Given the description of an element on the screen output the (x, y) to click on. 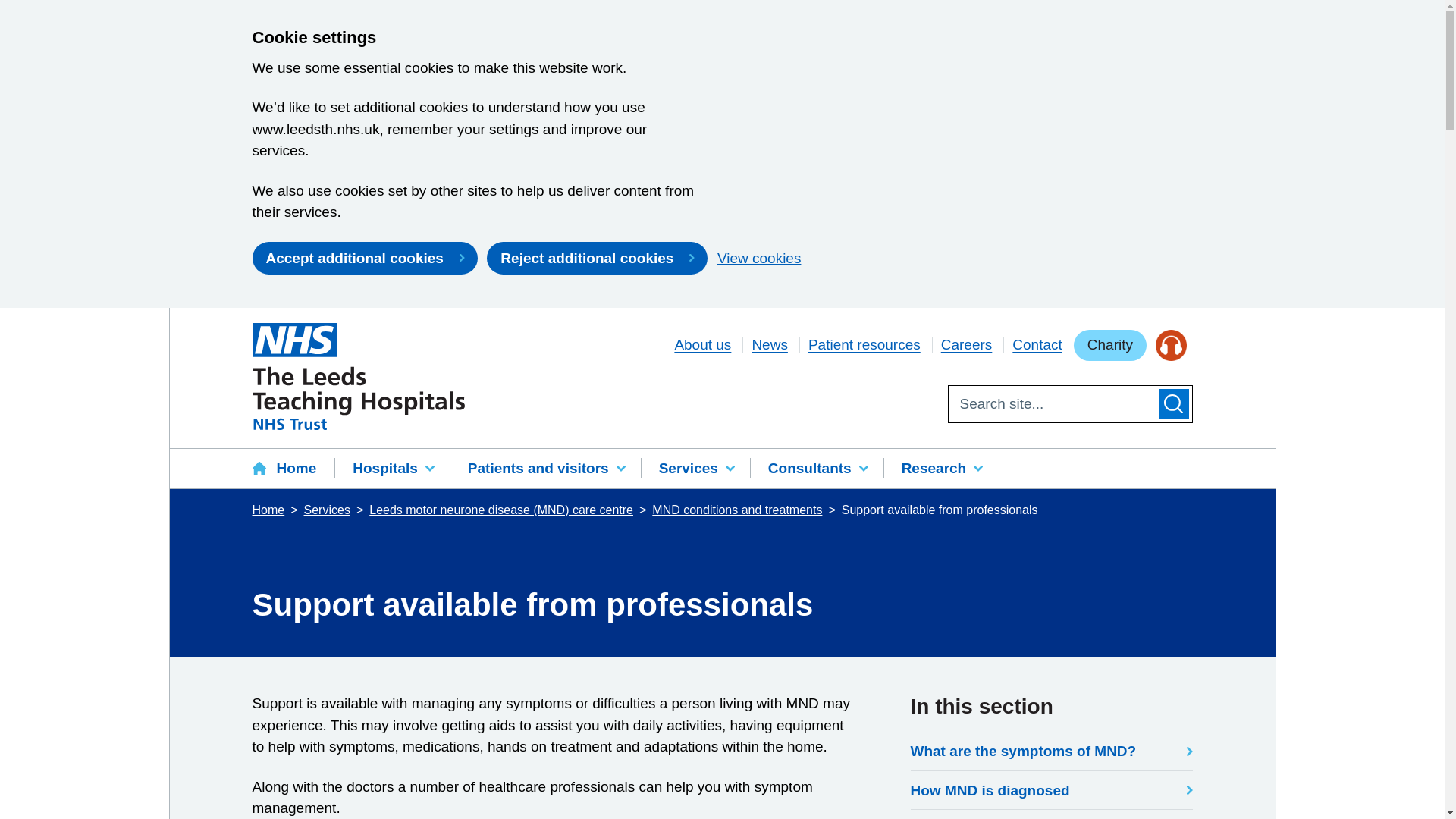
Go to MND conditions and treatments. (738, 510)
About us (702, 344)
News (769, 344)
Contact (1036, 344)
Services (694, 468)
Hospitals (391, 468)
Careers (966, 344)
Reject additional cookies (596, 257)
Home (292, 468)
Patients and visitors (544, 468)
Leeds Teaching Hospitals NHS Trust Homepage (357, 375)
View cookies (759, 258)
Accept additional cookies (364, 257)
Go to Services. (328, 510)
Go to Home. (268, 510)
